Given the description of an element on the screen output the (x, y) to click on. 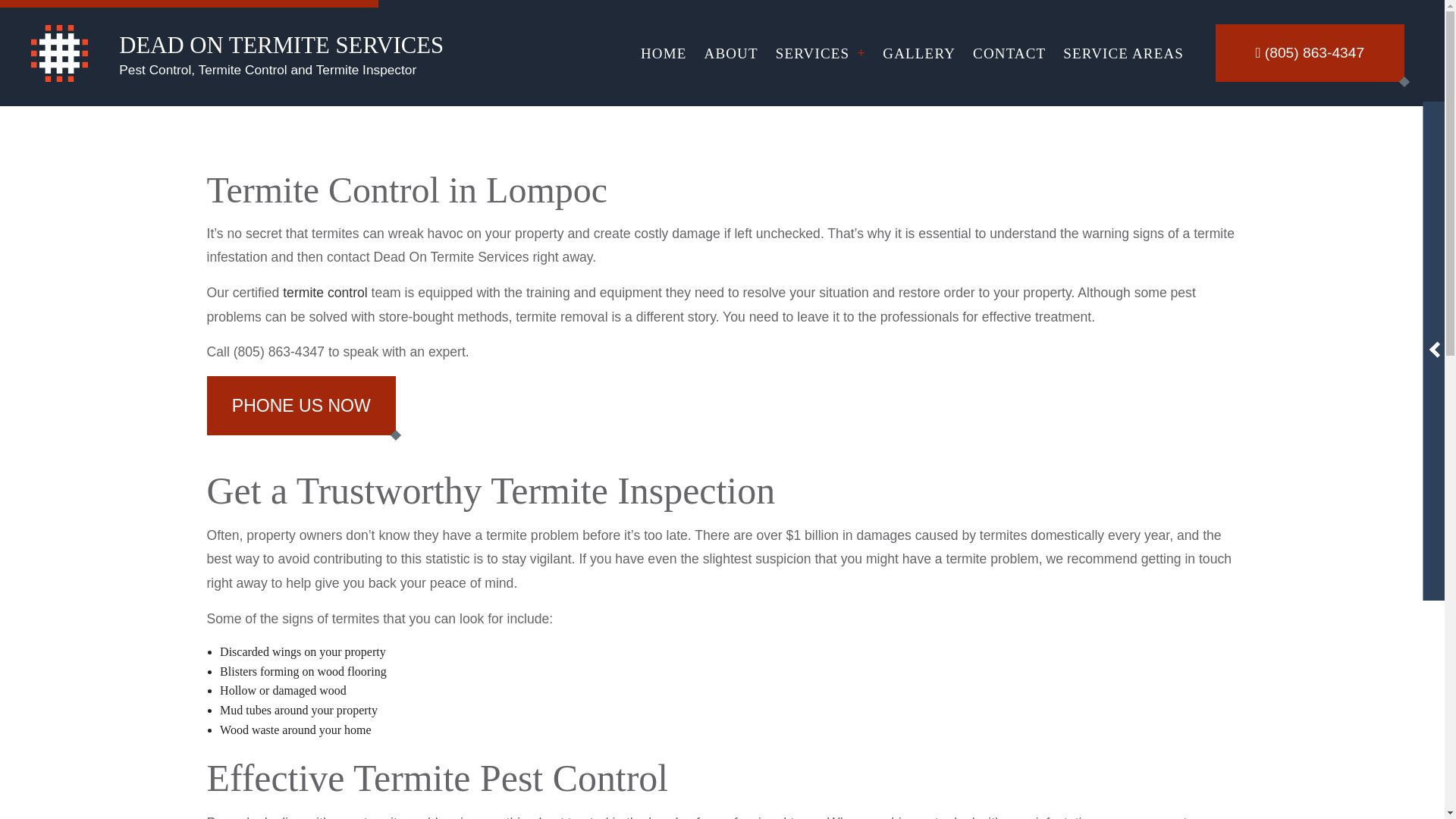
FUMIGATION (819, 90)
RESIDENTIAL PEST CONTROL (819, 276)
Learn more about Termite Control (324, 292)
HOME (663, 53)
GREEN PEST CONTROL (819, 223)
CONTACT (1008, 53)
TERMITE INSPECTION (819, 144)
ABOUT (731, 53)
SERVICE AREAS (1123, 53)
GALLERY (919, 53)
Dead On Termite Services (58, 51)
SERVICES (821, 53)
COMMERCIAL PEST CONTROL (819, 303)
TERMITE CONTROL (819, 171)
ORGANIC PEST CONTROL (819, 197)
